Given the description of an element on the screen output the (x, y) to click on. 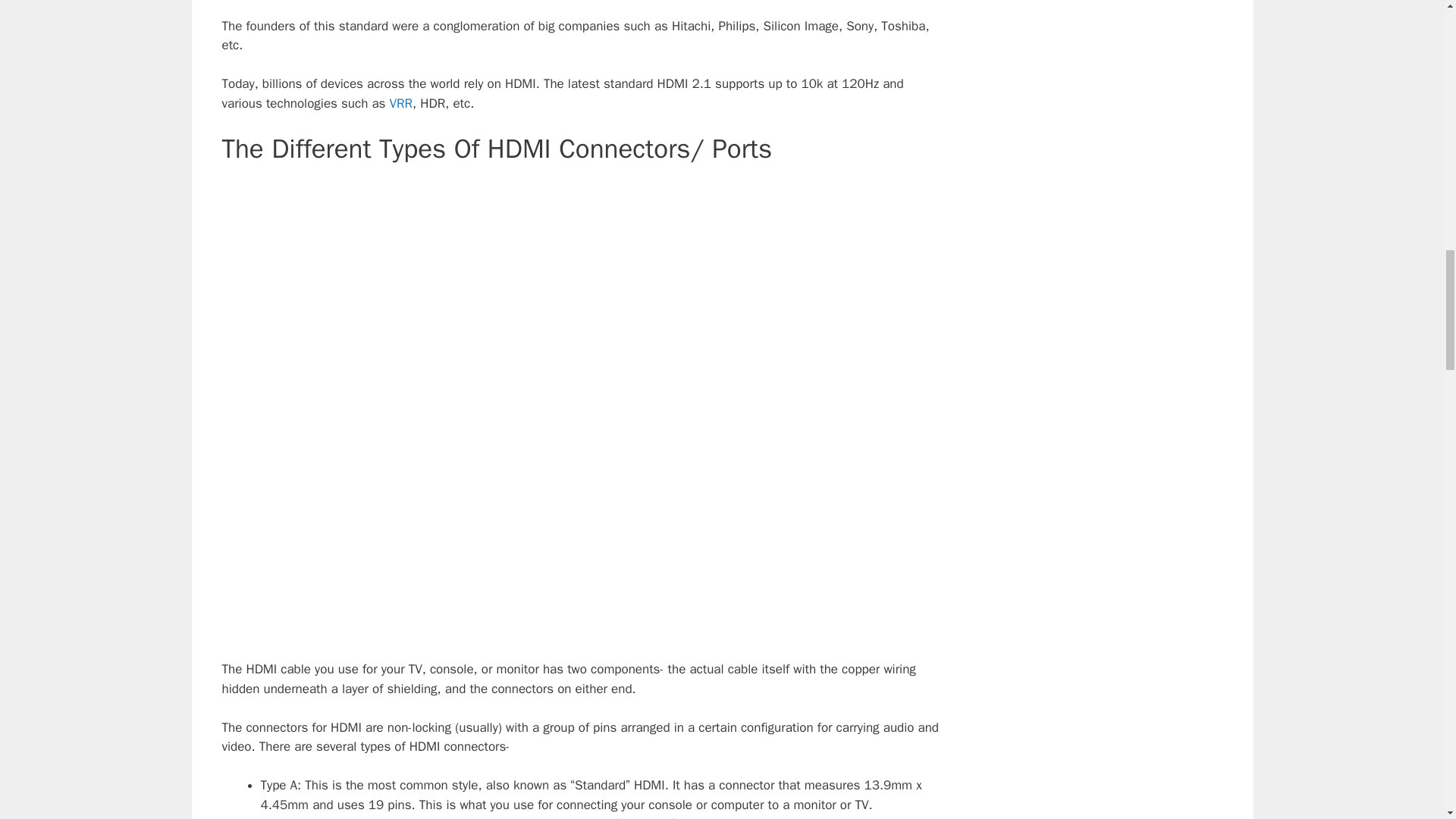
VRR (401, 103)
